Given the description of an element on the screen output the (x, y) to click on. 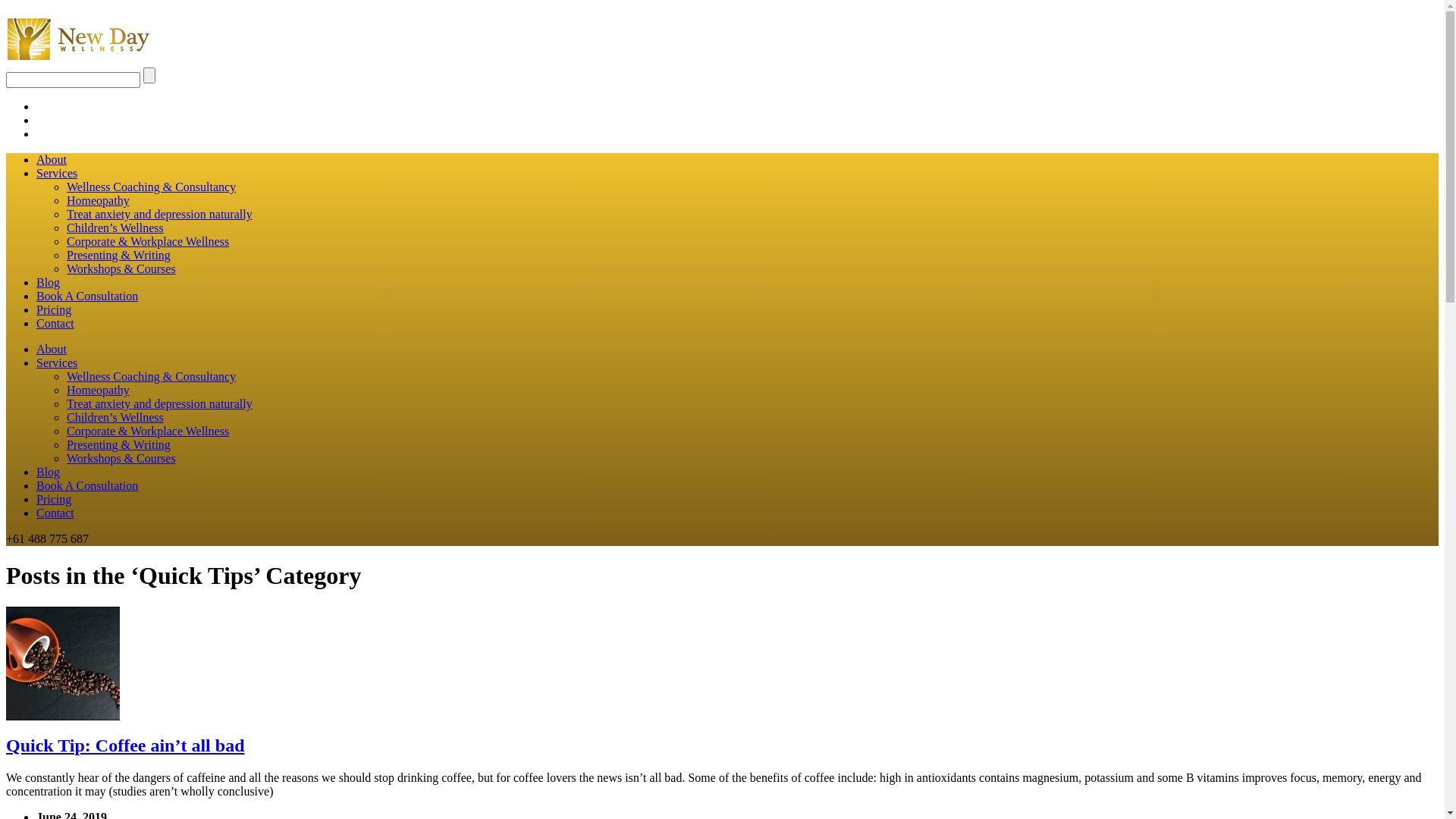
Book A Consultation Element type: text (87, 295)
About Element type: text (51, 159)
Presenting & Writing Element type: text (118, 254)
Contact Element type: text (55, 322)
Wellness Coaching & Consultancy Element type: text (150, 186)
Contact Element type: text (55, 512)
Homeopathy Element type: text (97, 389)
Services Element type: text (56, 362)
Services Element type: text (56, 172)
Homeopathy Element type: text (97, 200)
Corporate & Workplace Wellness Element type: text (147, 430)
Blog Element type: text (47, 282)
Blog Element type: text (47, 471)
Corporate & Workplace Wellness Element type: text (147, 241)
Workshops & Courses Element type: text (120, 457)
Pricing Element type: text (53, 309)
Pricing Element type: text (53, 498)
Presenting & Writing Element type: text (118, 444)
Wellness Coaching & Consultancy Element type: text (150, 376)
About Element type: text (51, 348)
Treat anxiety and depression naturally Element type: text (159, 213)
Treat anxiety and depression naturally Element type: text (159, 403)
Book A Consultation Element type: text (87, 485)
Workshops & Courses Element type: text (120, 268)
